Given the description of an element on the screen output the (x, y) to click on. 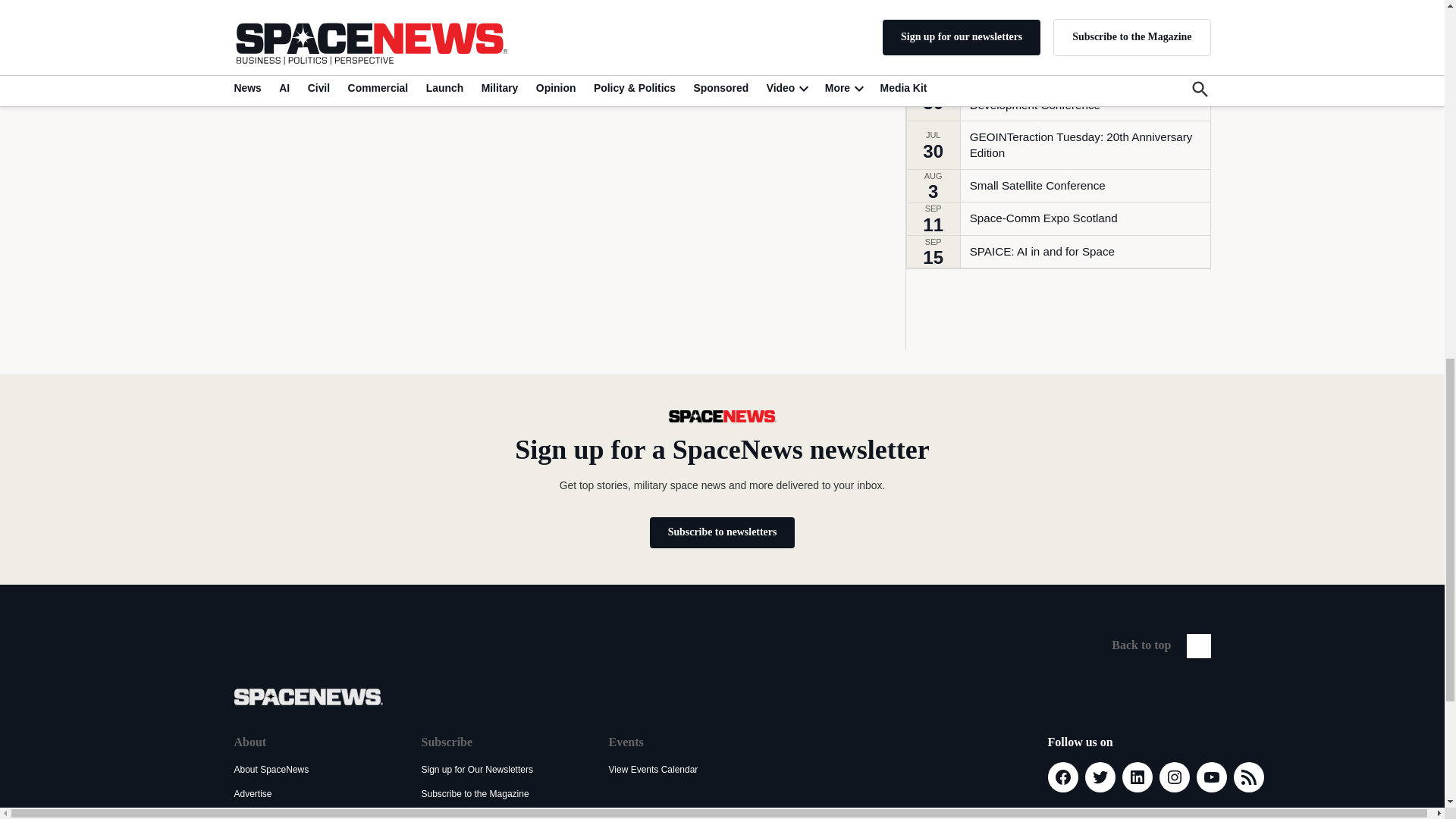
Click to share on Reddit (352, 1)
Click to share on X (253, 1)
Small Satellite Conference (1037, 185)
Click to email a link to a friend (386, 1)
Click to share on Facebook (286, 1)
Space-Comm Expo Scotland (1043, 217)
GEOINTeraction Tuesday: 20th Anniversary Edition (1089, 144)
Click to share on LinkedIn (319, 1)
Click to share on Clipboard (419, 1)
